Given the description of an element on the screen output the (x, y) to click on. 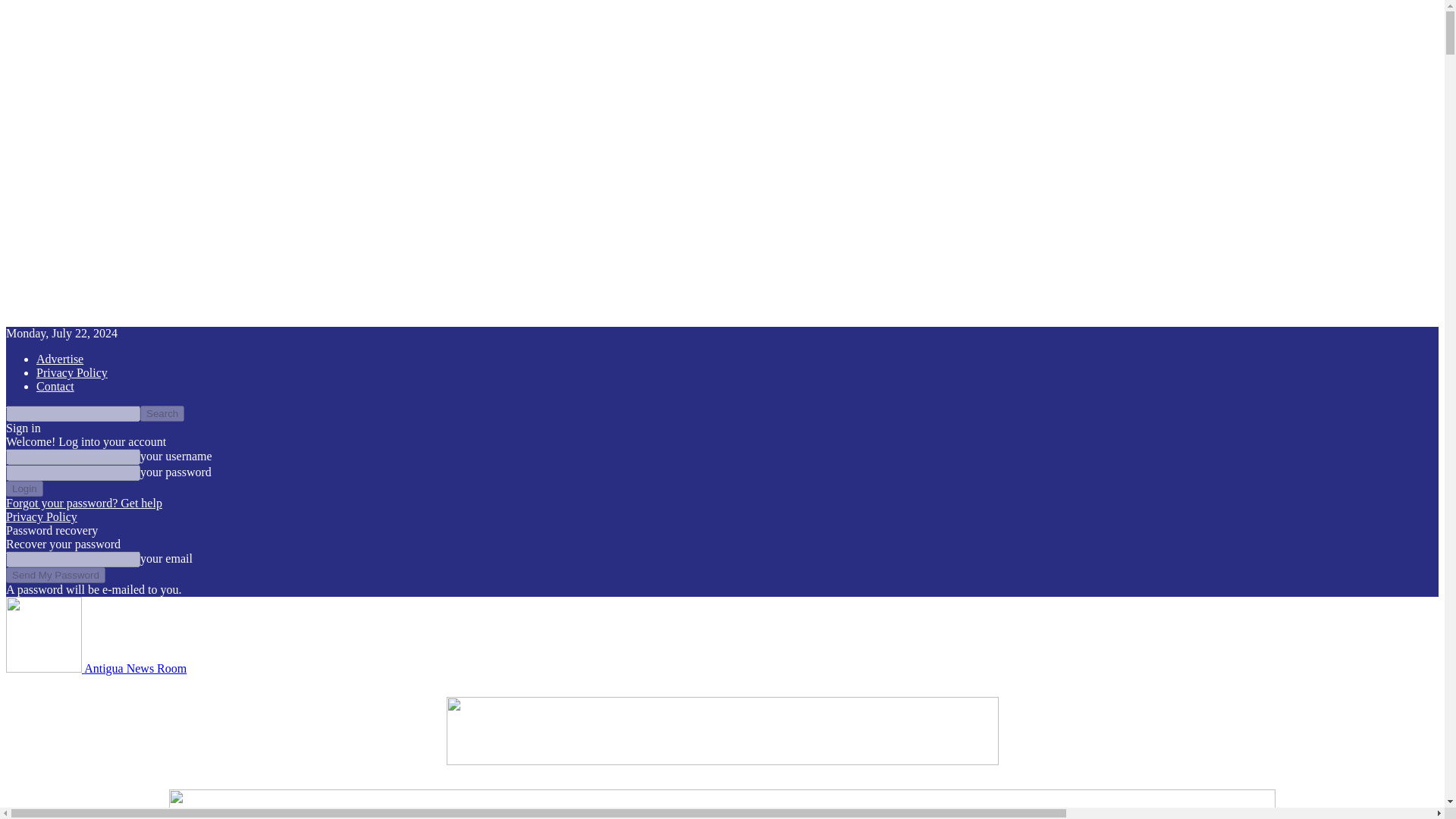
Privacy Policy (71, 372)
Privacy Policy (41, 516)
Login (24, 488)
Forgot your password? Get help (83, 502)
Search (161, 413)
Search (161, 413)
Antigua News Room (95, 667)
Contact (55, 386)
Send My Password (54, 575)
Advertise (59, 358)
